Given the description of an element on the screen output the (x, y) to click on. 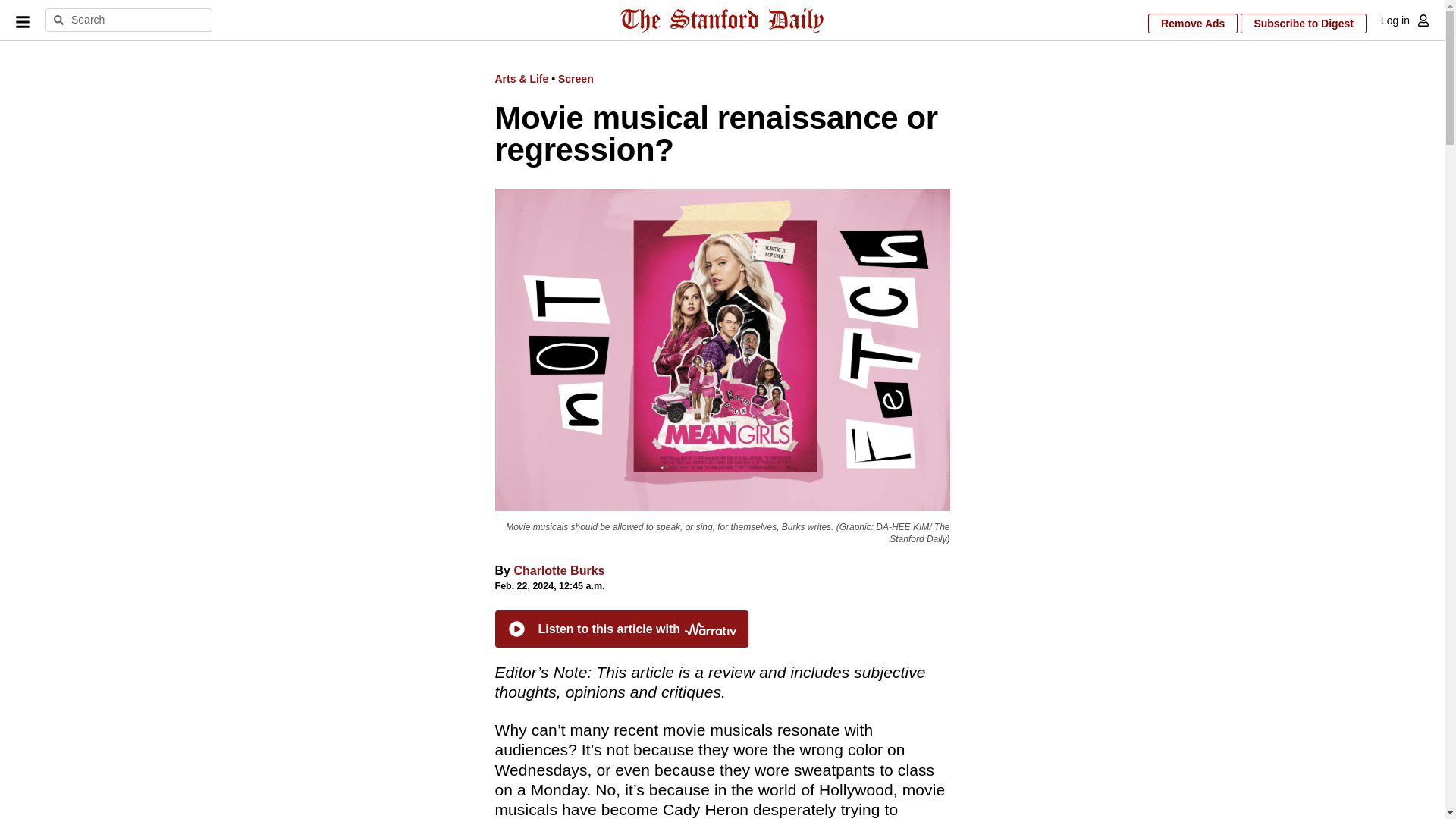
Remove Ads (1192, 23)
Subscribe to Digest (1302, 23)
Log in (1394, 20)
Charlotte Burks (558, 570)
Screen (575, 78)
Listen to this article with (621, 628)
